Given the description of an element on the screen output the (x, y) to click on. 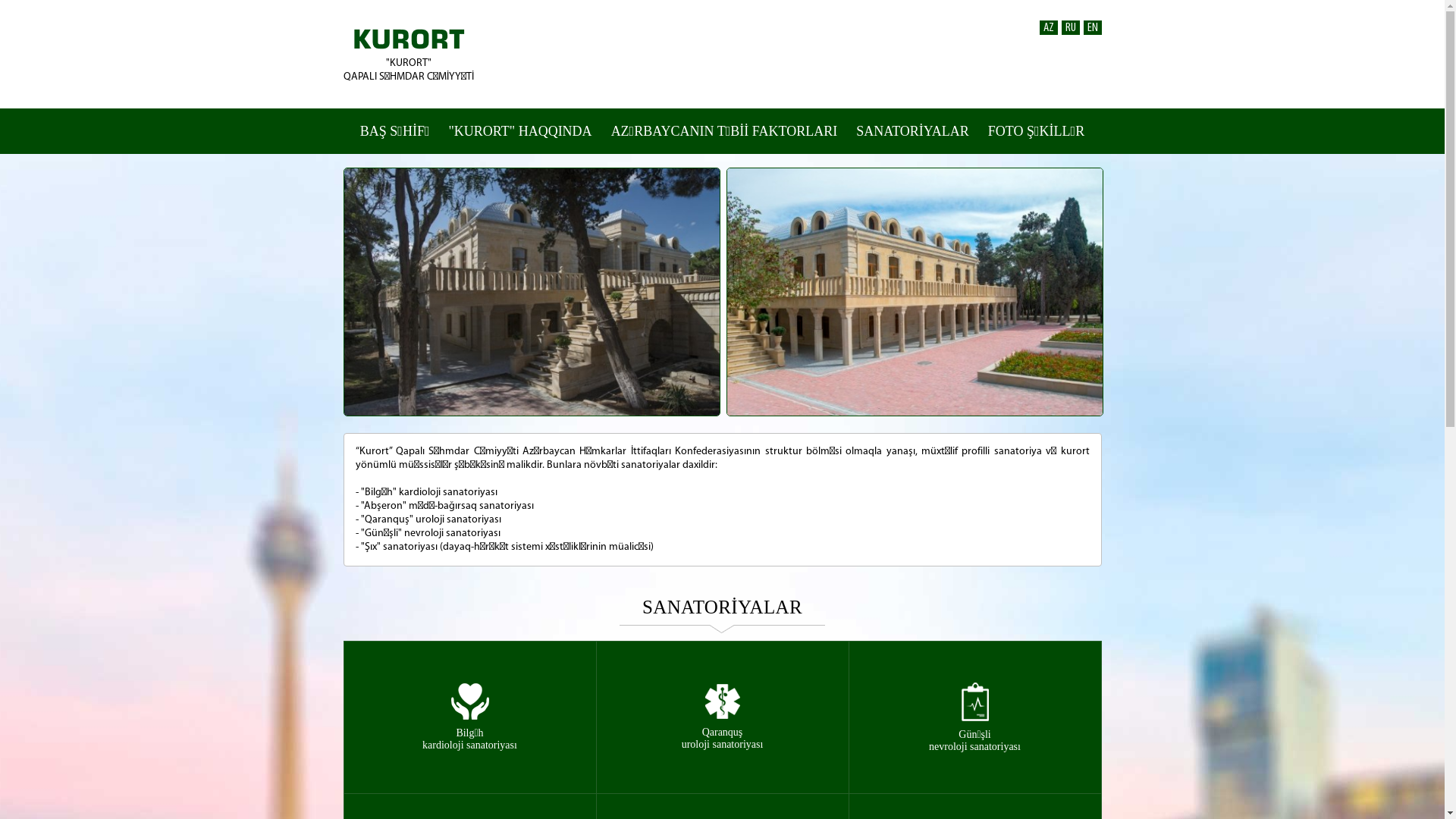
"KURORT" HAQQINDA Element type: text (520, 130)
RU Element type: text (1070, 27)
AZ Element type: text (1047, 27)
EN Element type: text (1091, 27)
